Given the description of an element on the screen output the (x, y) to click on. 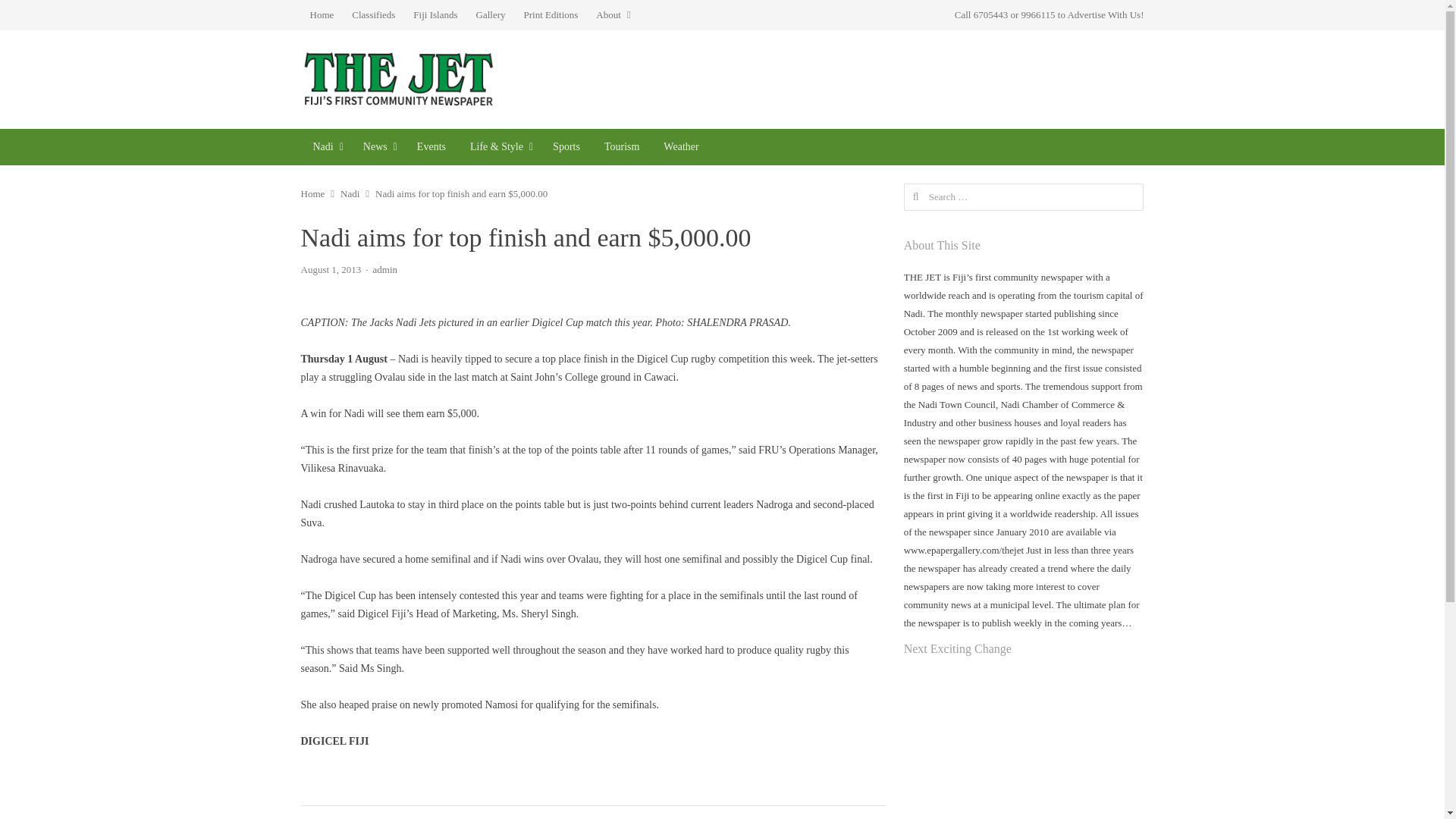
Print Editions (549, 14)
About (612, 14)
NADI CDN (324, 146)
Classifieds (373, 14)
Home (320, 14)
Gallery (491, 14)
Fiji Islands (434, 14)
